Given the description of an element on the screen output the (x, y) to click on. 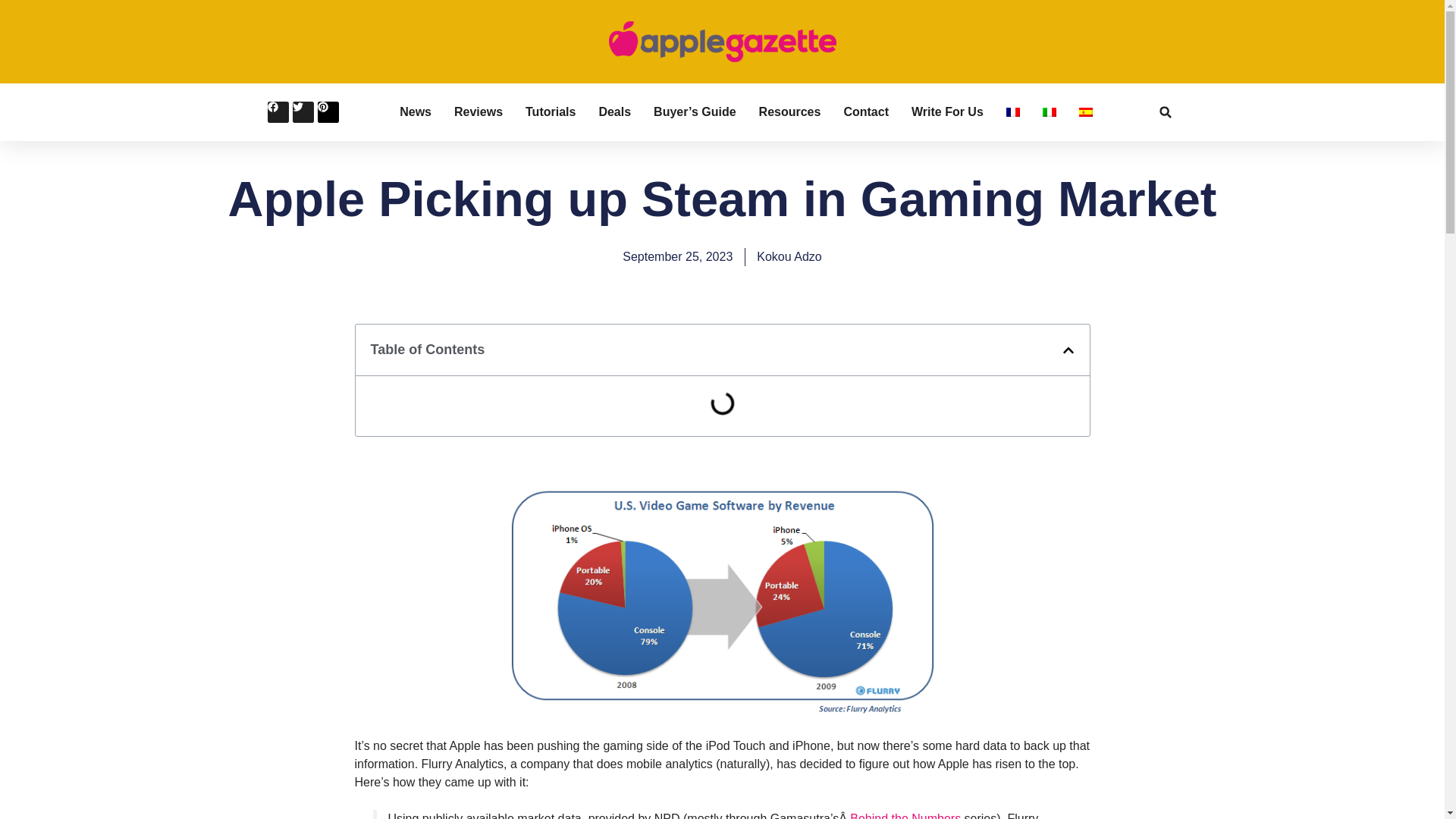
Tutorials (550, 112)
Resources (789, 112)
News (414, 112)
Write For Us (947, 112)
Reviews (478, 112)
Deals (614, 112)
Contact (865, 112)
